Given the description of an element on the screen output the (x, y) to click on. 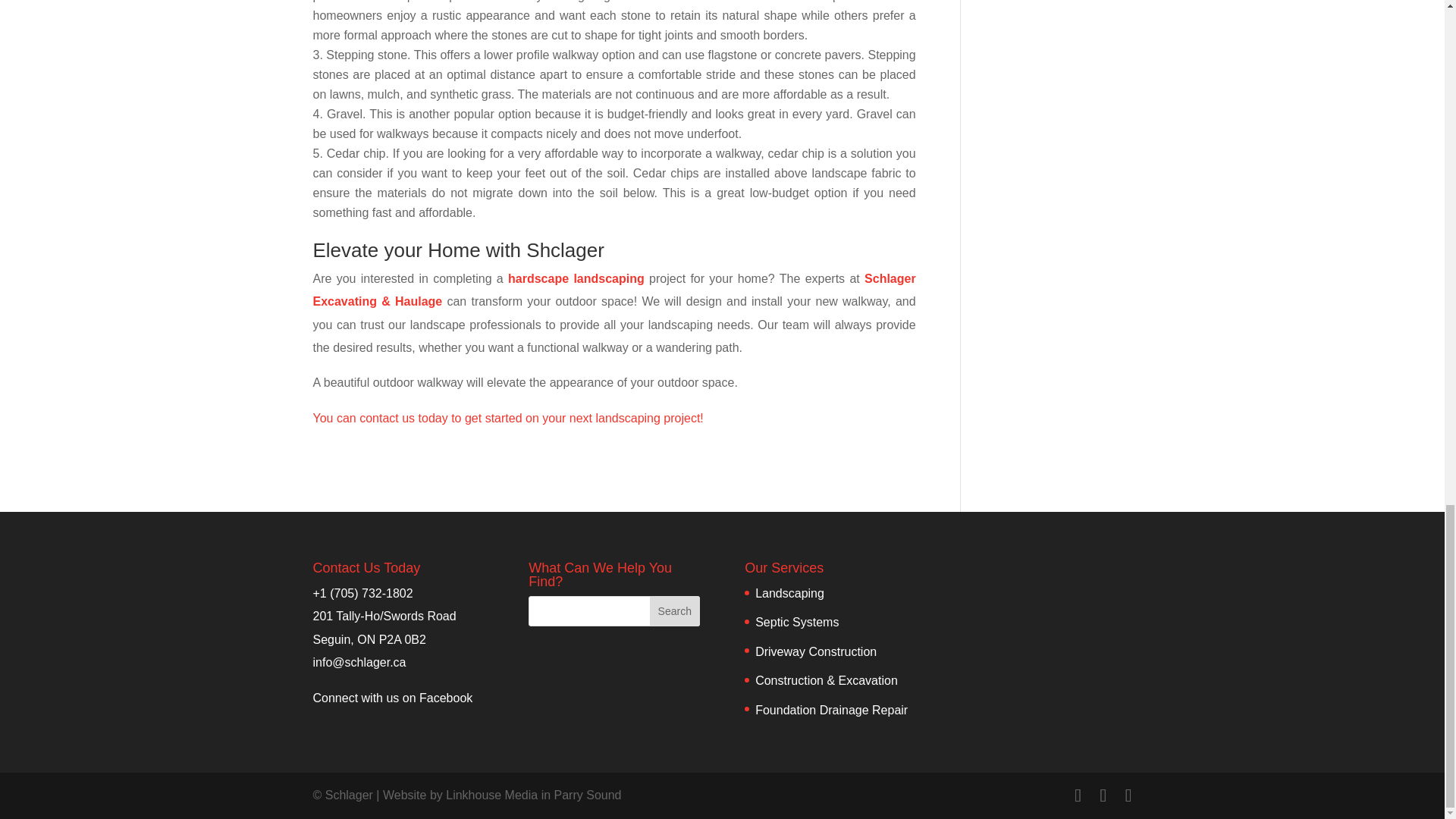
Septic Systems (796, 621)
Search (674, 611)
Email Us (359, 662)
hardscape landscaping (576, 278)
Connect with us on Facebook (392, 697)
Foundation Drainage Repair (831, 708)
Go to Facebook (392, 697)
Search (674, 611)
Driveway Construction (815, 651)
Landscaping (789, 593)
